Given the description of an element on the screen output the (x, y) to click on. 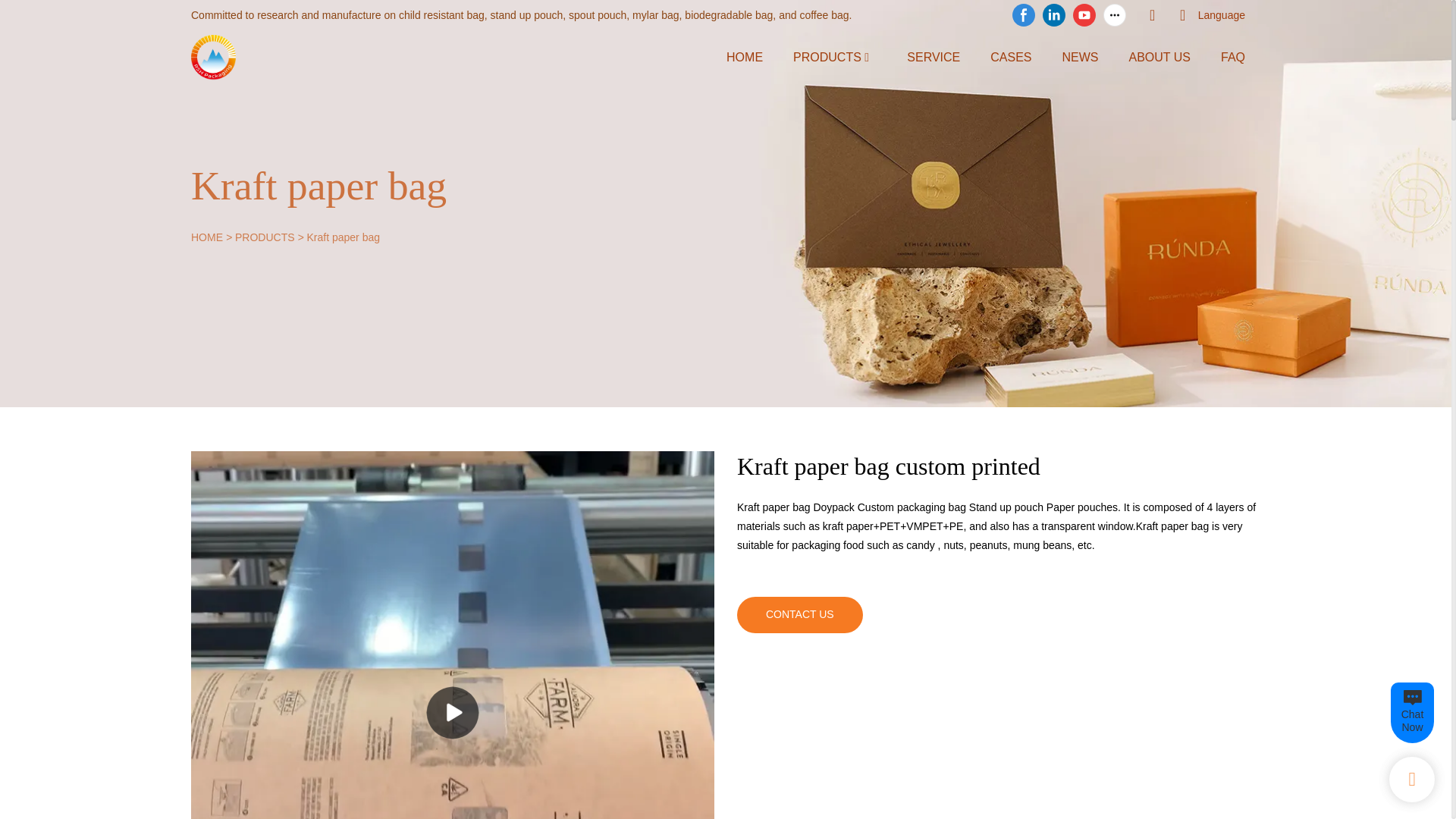
Kraft paper bag (342, 236)
PRODUCTS (827, 56)
linkedin (1053, 15)
NEWS (1079, 56)
HOME (206, 236)
PRODUCTS (264, 236)
FAQ (1232, 56)
youtube (1083, 15)
HOME (744, 56)
ABOUT US (1159, 56)
